Given the description of an element on the screen output the (x, y) to click on. 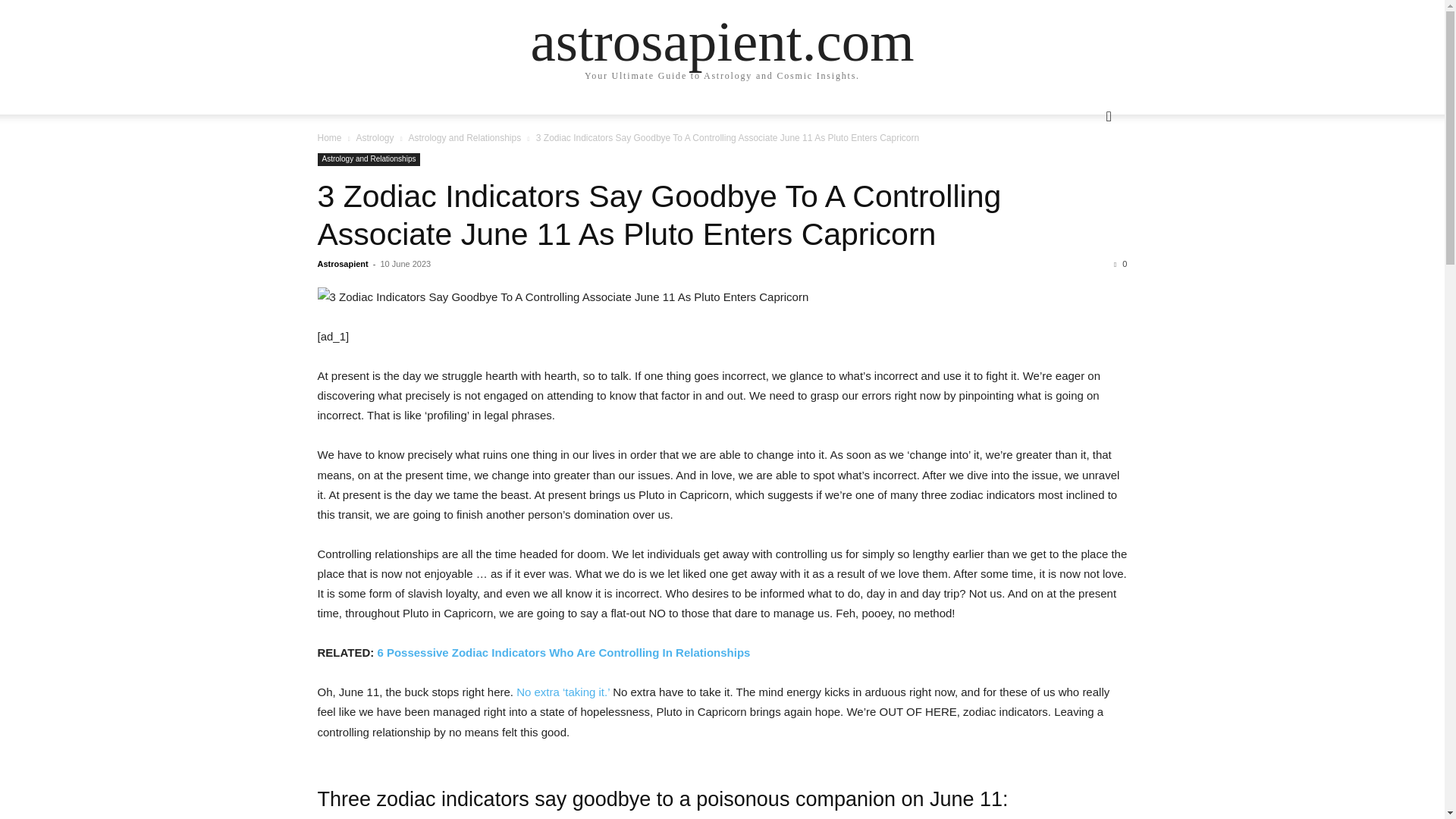
Search (1085, 177)
astrosapient.com (721, 41)
Astrosapient (342, 263)
Home (328, 137)
Astrology and Relationships (464, 137)
Astrology (374, 137)
Astrology and Relationships (368, 159)
View all posts in Astrology (374, 137)
0 (1119, 263)
View all posts in Astrology and Relationships (464, 137)
